Given the description of an element on the screen output the (x, y) to click on. 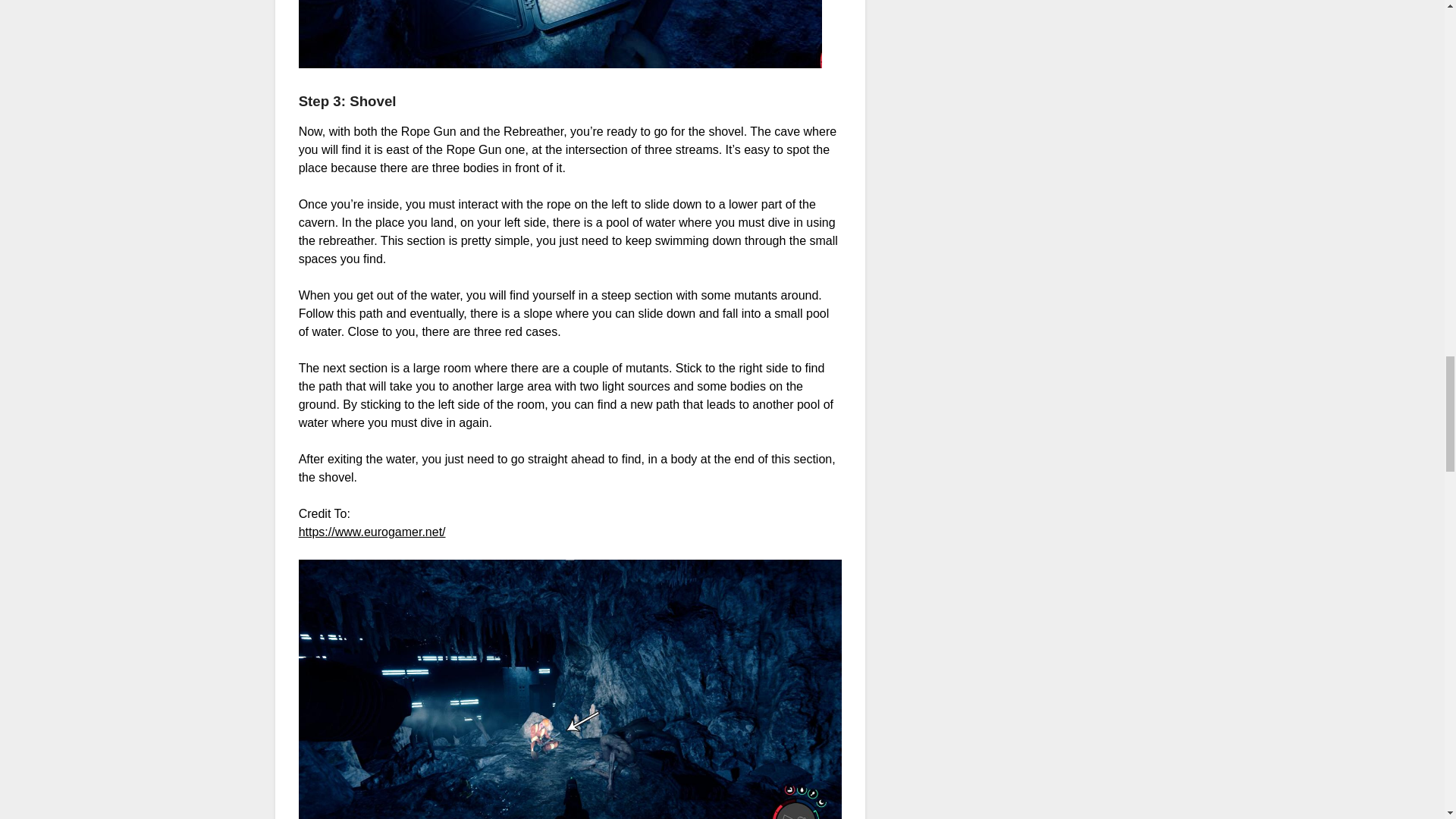
Sons Of The Forest Shotgun Guide (560, 33)
